Given the description of an element on the screen output the (x, y) to click on. 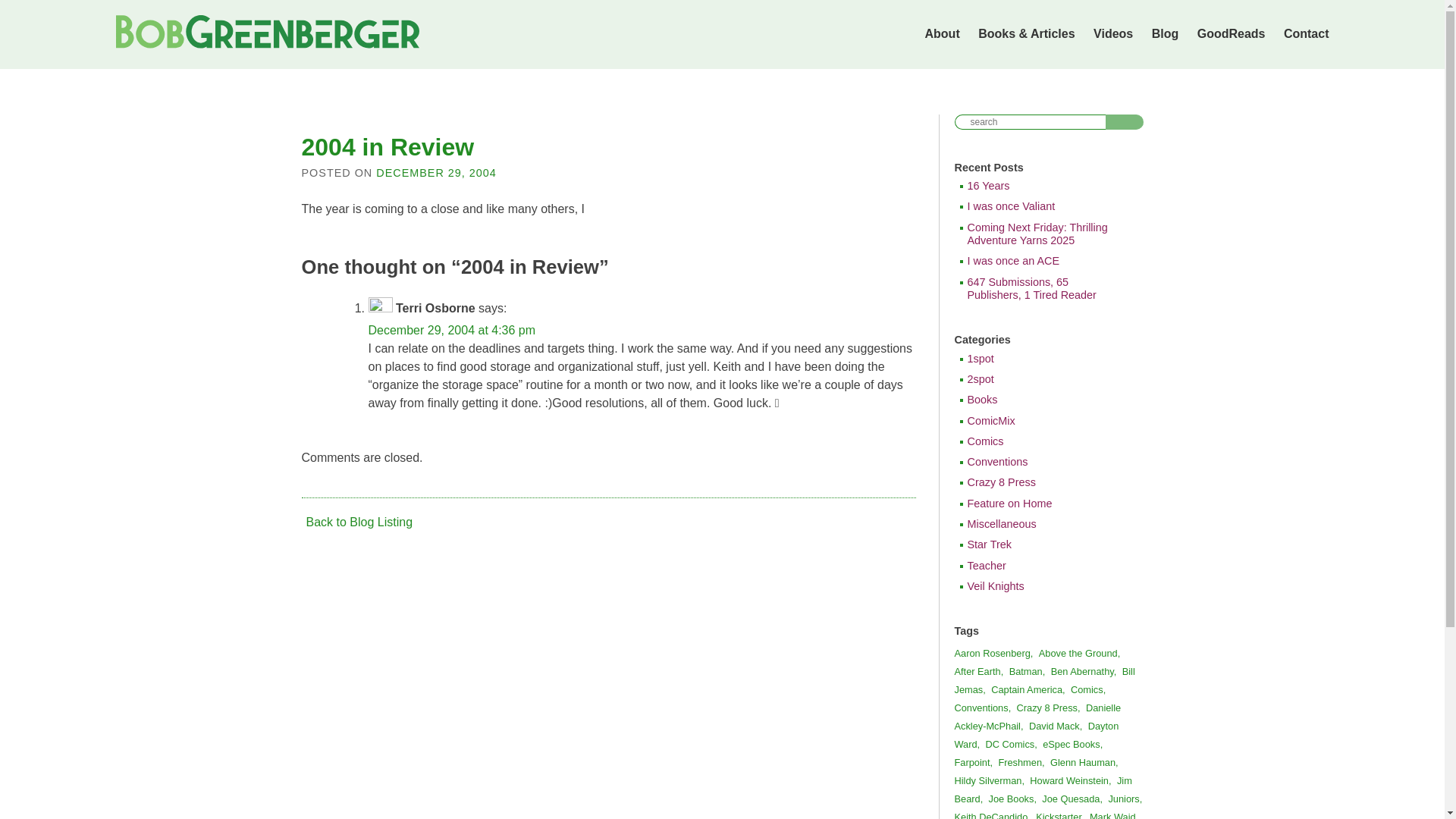
16 Years (1044, 185)
Conventions (1044, 461)
2spot (1044, 379)
DECEMBER 29, 2004 (435, 173)
Crazy 8 Press (1044, 481)
I was once an ACE (1044, 260)
Veil Knights (1044, 585)
Feature on Home (1044, 503)
Batman (1030, 671)
Miscellaneous (1044, 523)
